Given the description of an element on the screen output the (x, y) to click on. 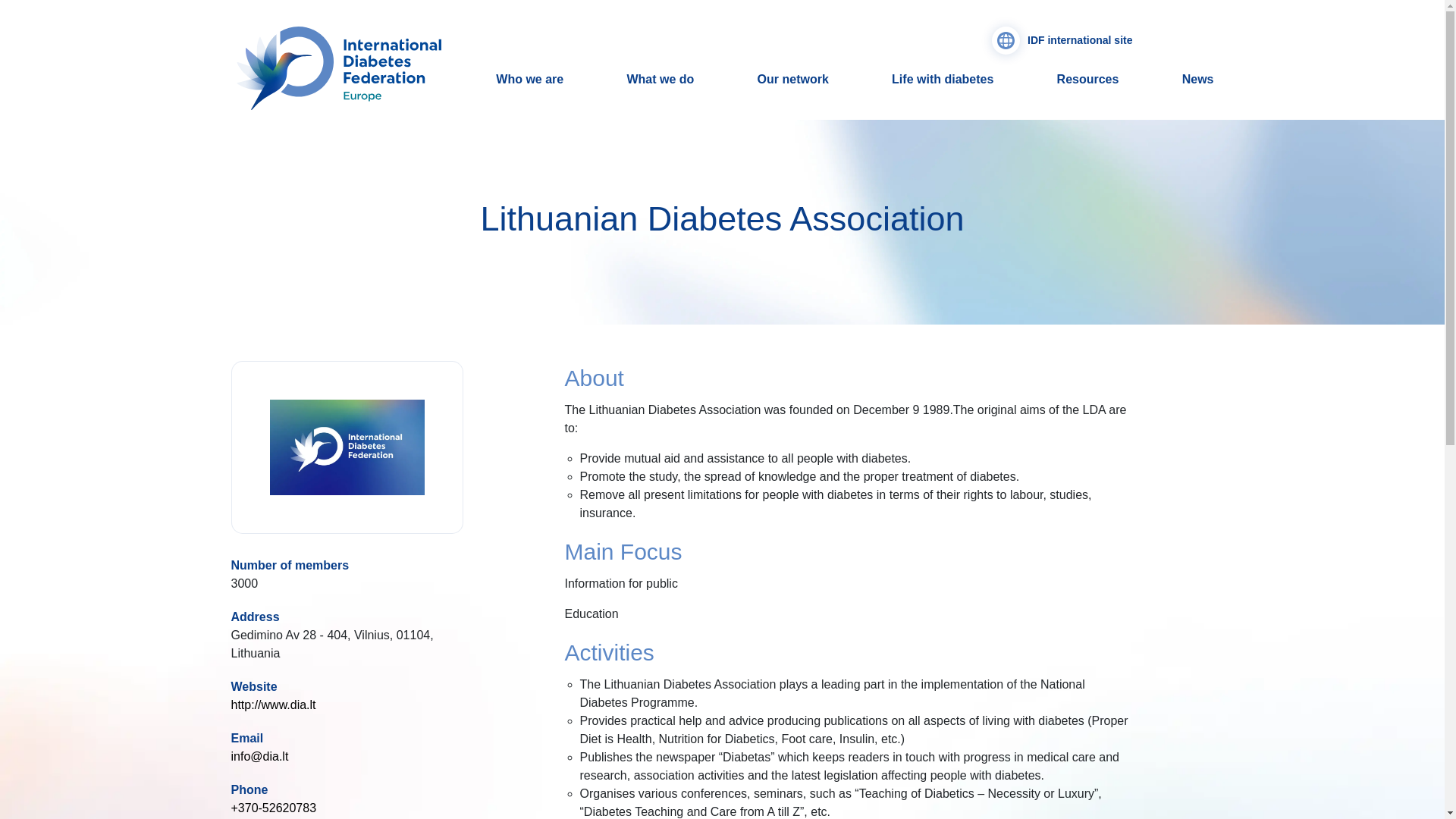
Our network (792, 79)
IDF international site (1061, 40)
Who we are (529, 79)
Life with diabetes (941, 79)
What we do (660, 79)
